Given the description of an element on the screen output the (x, y) to click on. 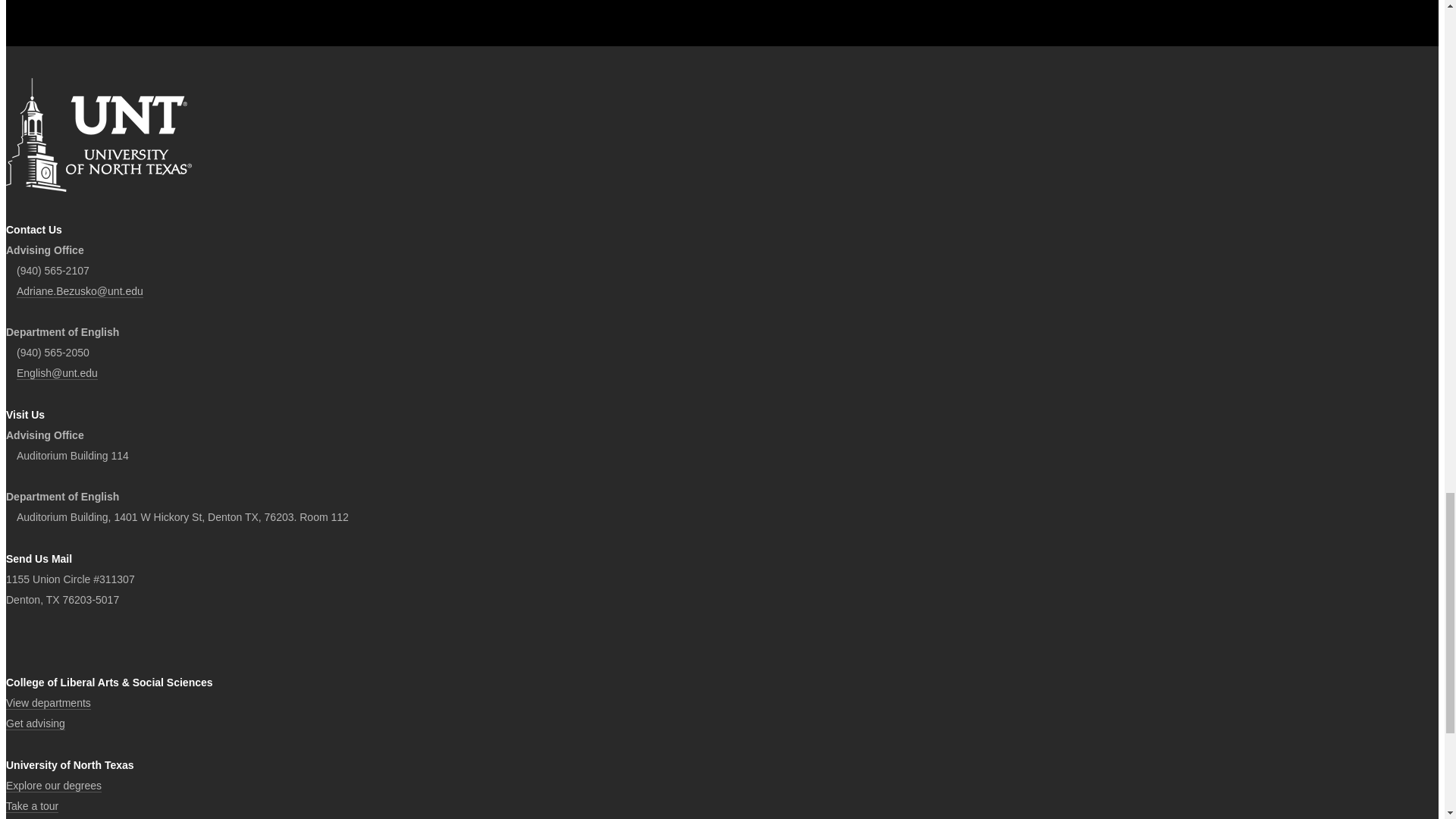
Go to the UNT website (98, 134)
